Given the description of an element on the screen output the (x, y) to click on. 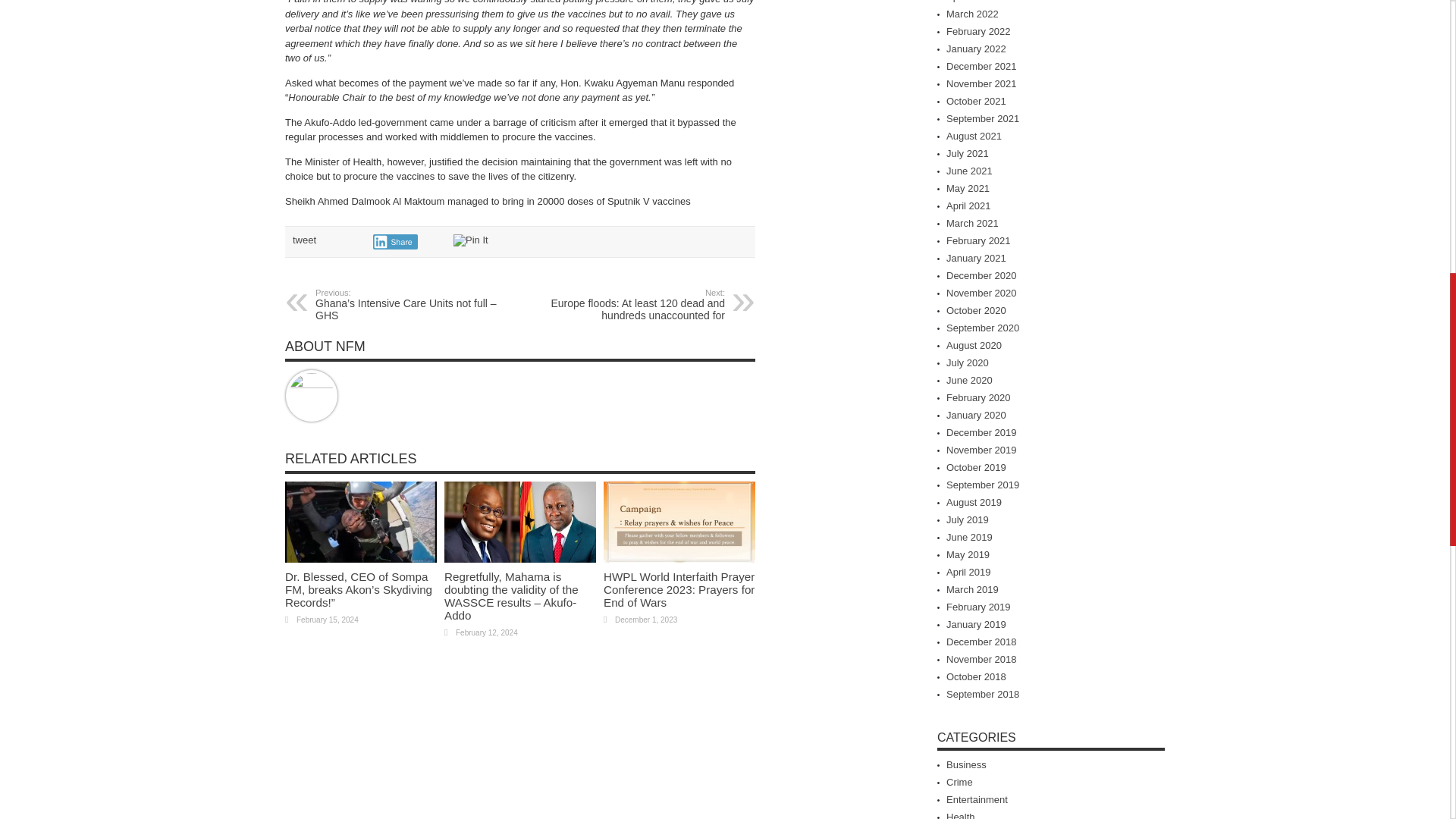
Share (394, 241)
tweet (303, 239)
